Given the description of an element on the screen output the (x, y) to click on. 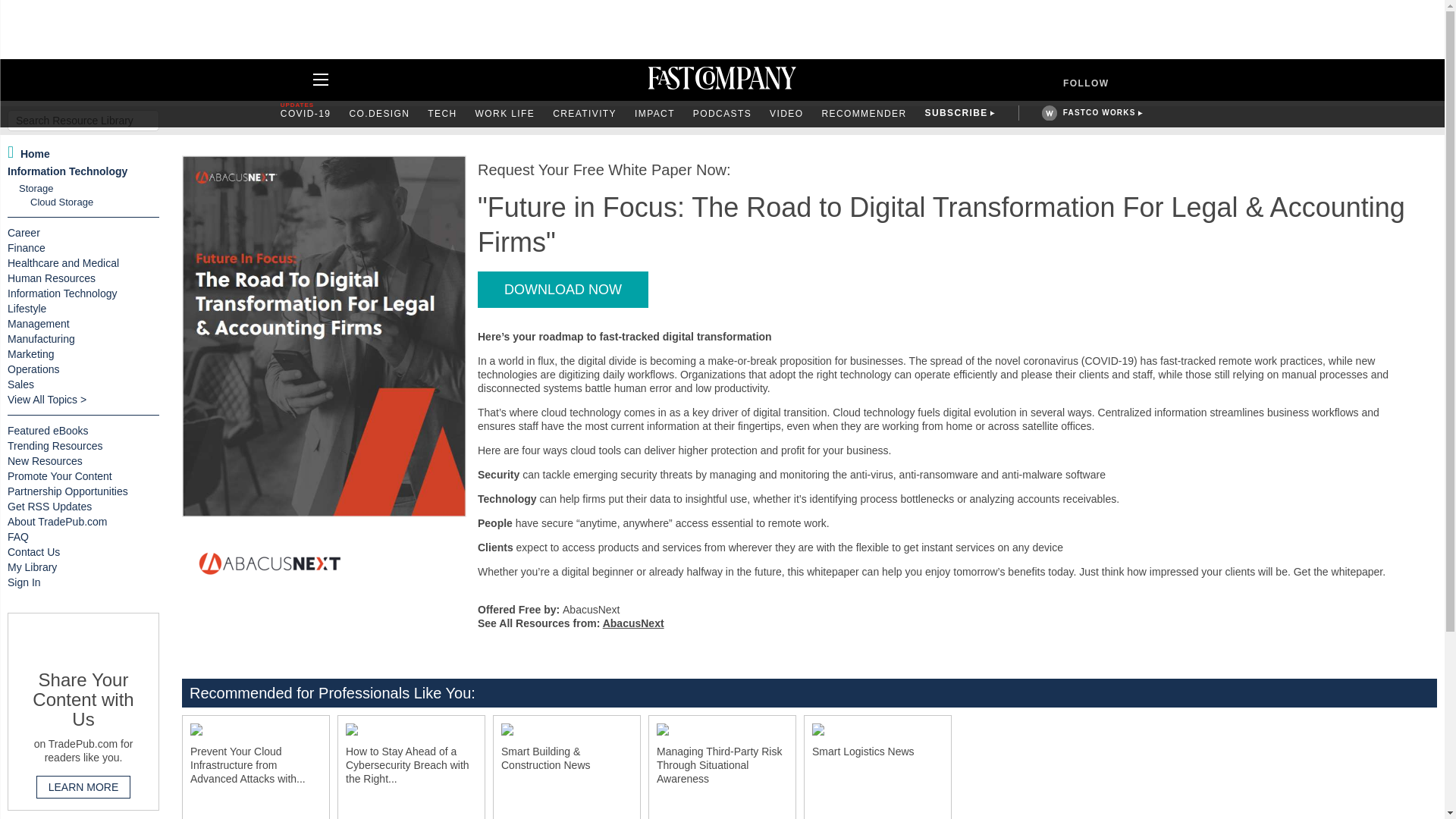
Co.Design (379, 113)
Recommender (863, 113)
Creativity (584, 113)
Tech (442, 113)
Impact (654, 113)
COVID-19 (306, 113)
Video (786, 113)
Work Life (505, 113)
Podcasts (722, 113)
